Given the description of an element on the screen output the (x, y) to click on. 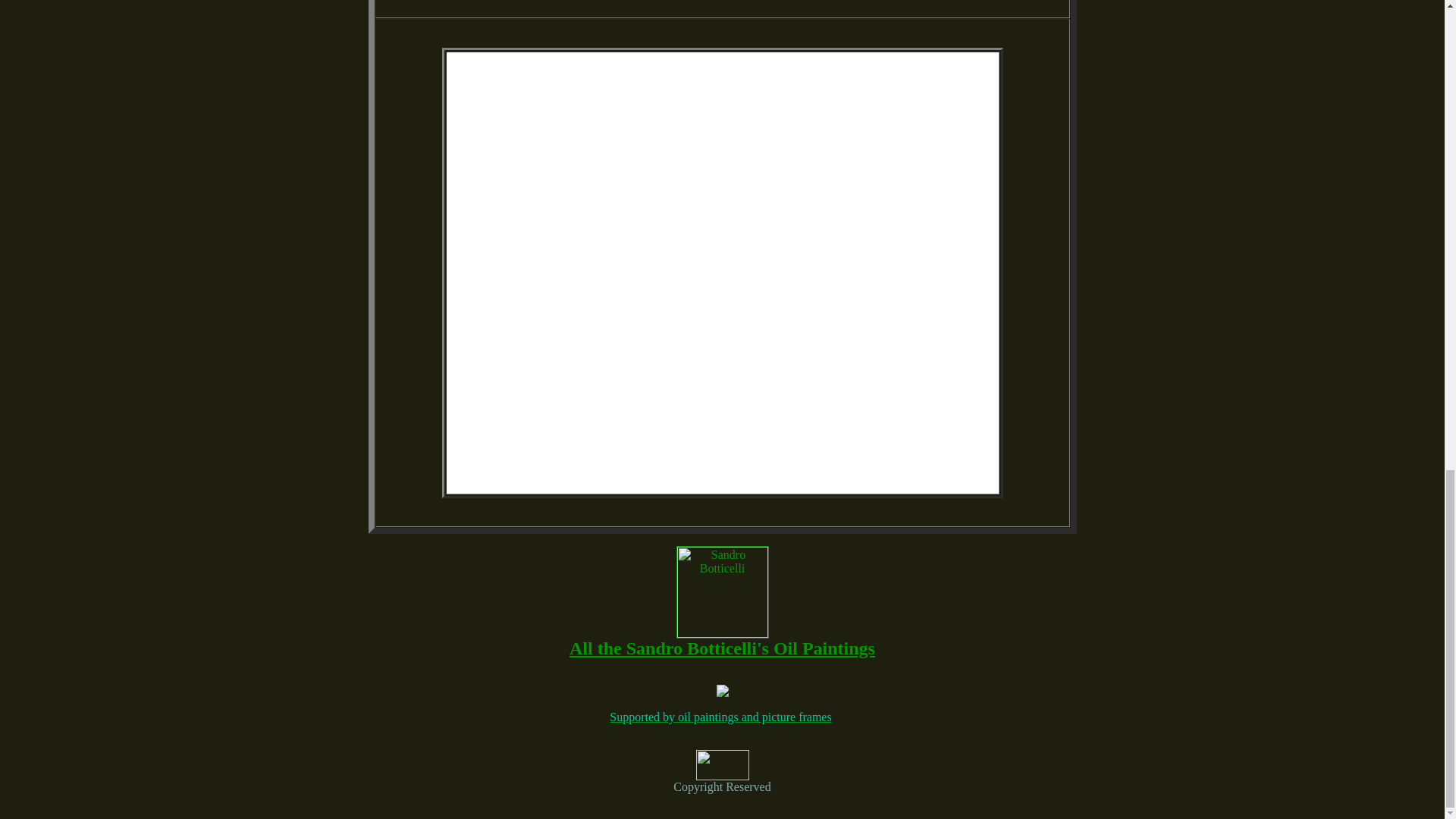
Supported by oil paintings and picture frames (720, 716)
All the Sandro Botticelli's Oil Paintings (722, 648)
